Given the description of an element on the screen output the (x, y) to click on. 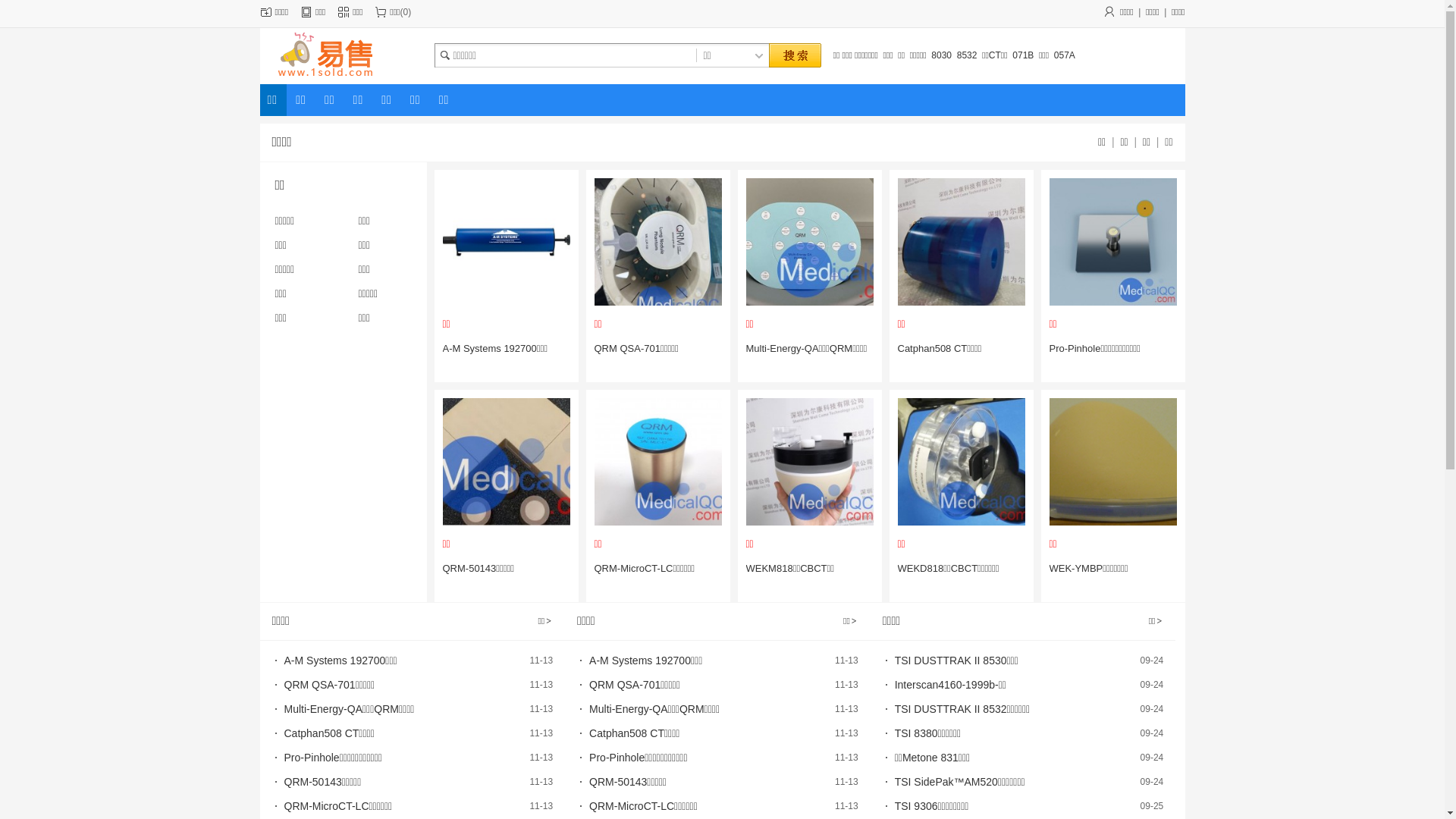
8030 Element type: text (941, 55)
057A Element type: text (1064, 55)
8532 Element type: text (967, 55)
  Element type: text (793, 56)
071B Element type: text (1022, 55)
